Given the description of an element on the screen output the (x, y) to click on. 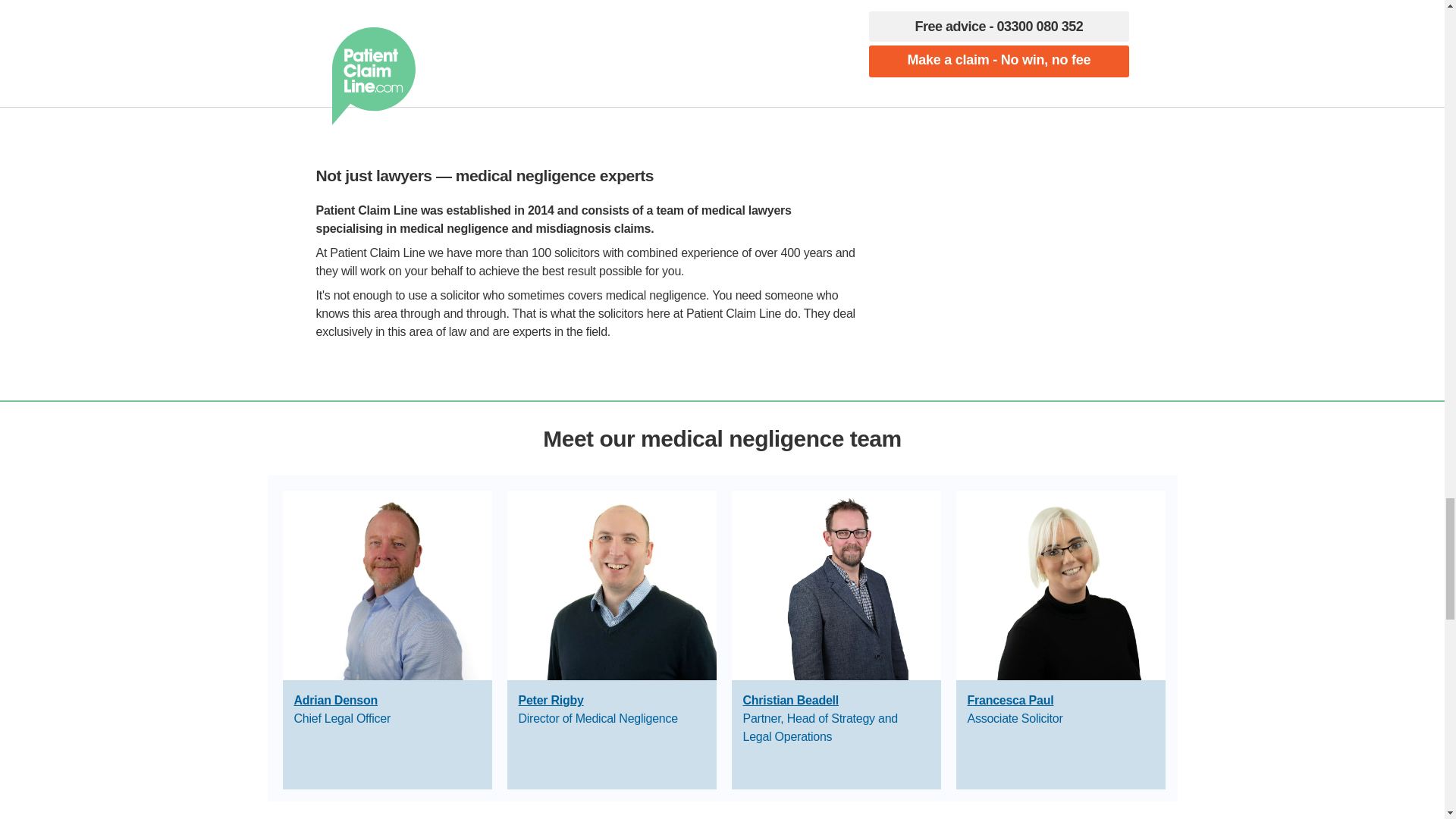
Adrian Denson (336, 699)
Will I have to go to court? (559, 7)
Francesca Paul (1011, 699)
Customer reviews powered by Trustpilot (992, 210)
Christian Beadell (790, 699)
Peter Rigby (550, 699)
